Given the description of an element on the screen output the (x, y) to click on. 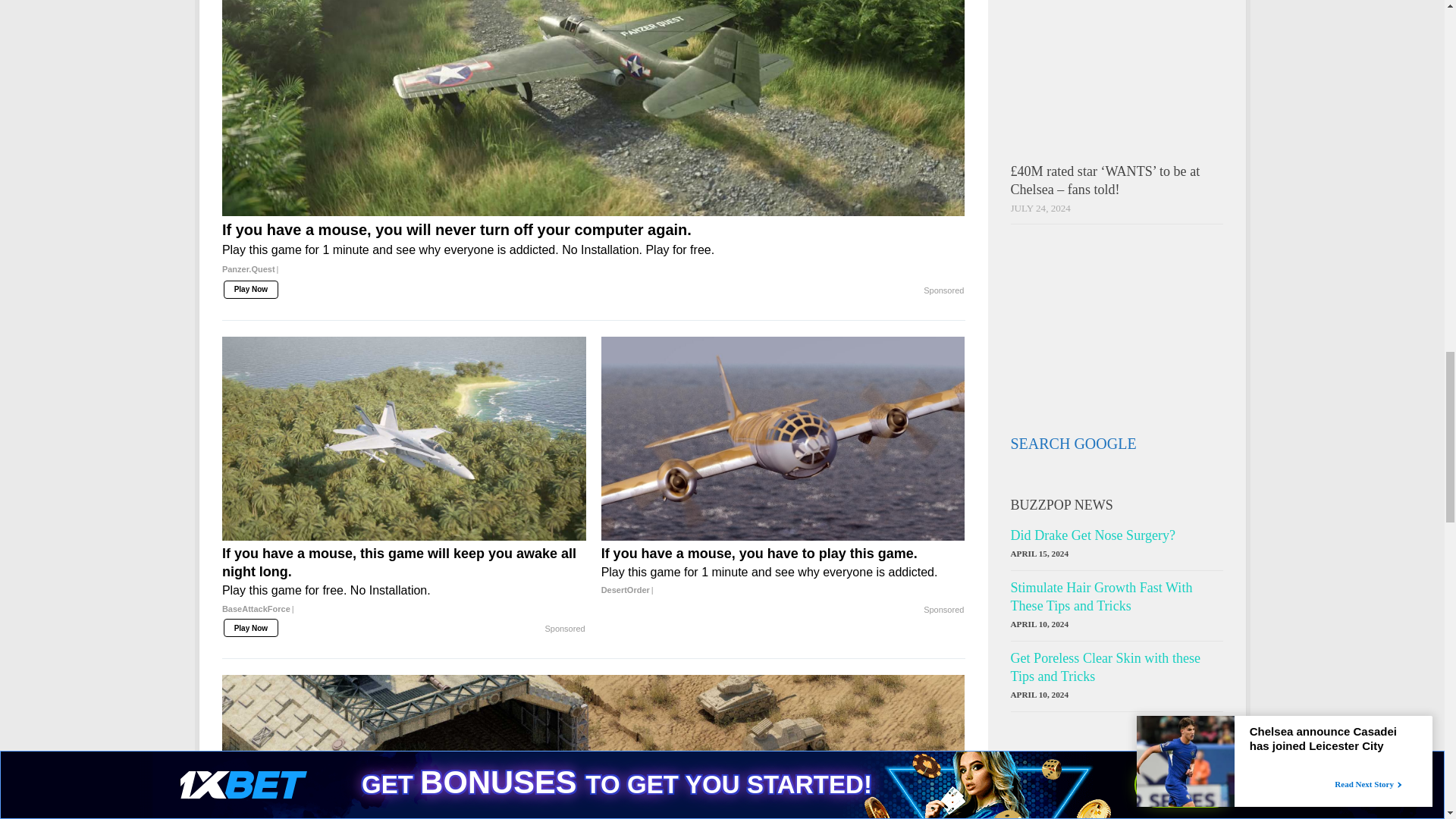
Sponsored (564, 629)
Sponsored (943, 290)
Play Now (251, 289)
Play Now (251, 628)
